Given the description of an element on the screen output the (x, y) to click on. 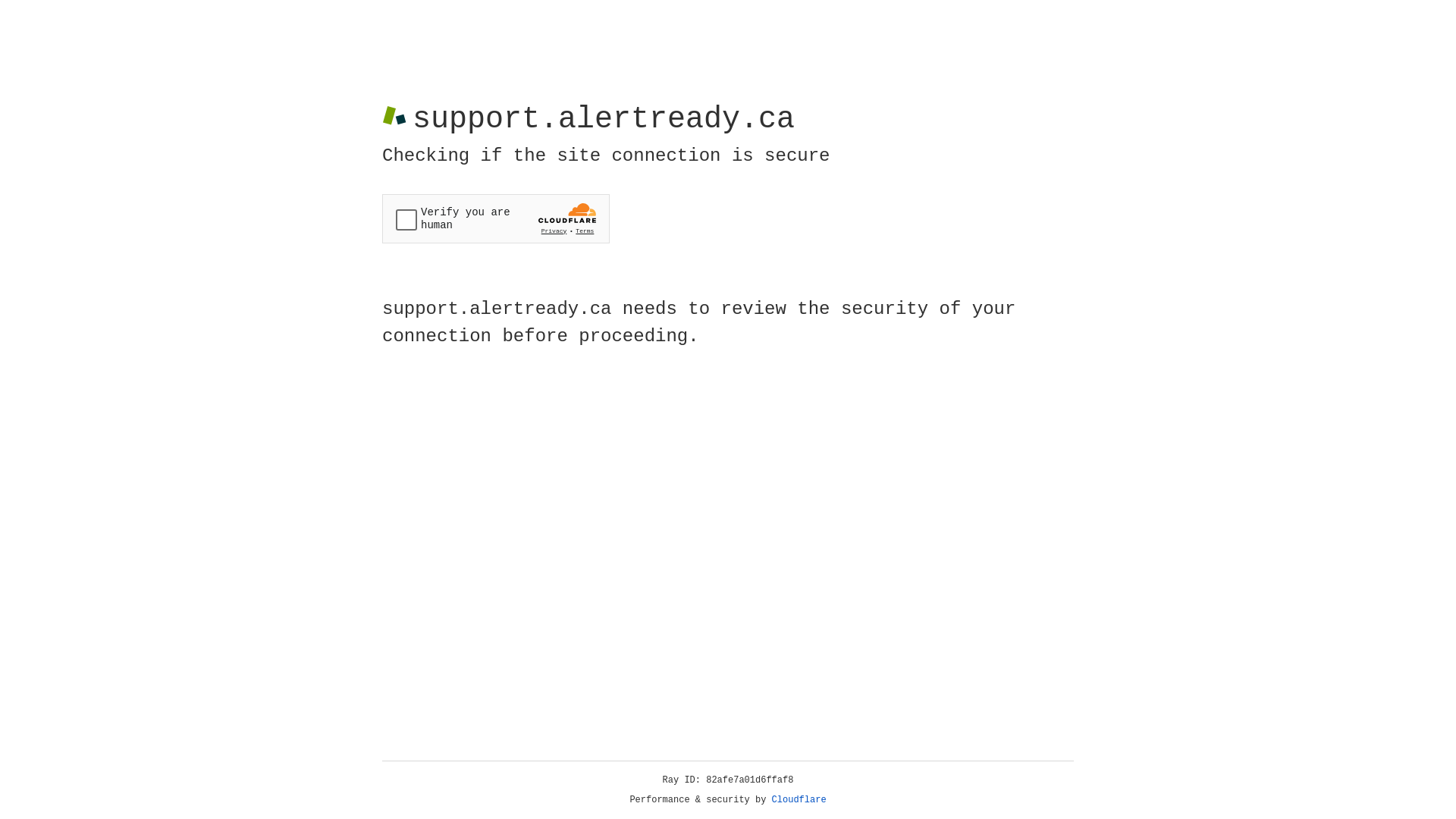
Cloudflare Element type: text (798, 799)
Widget containing a Cloudflare security challenge Element type: hover (495, 218)
